Given the description of an element on the screen output the (x, y) to click on. 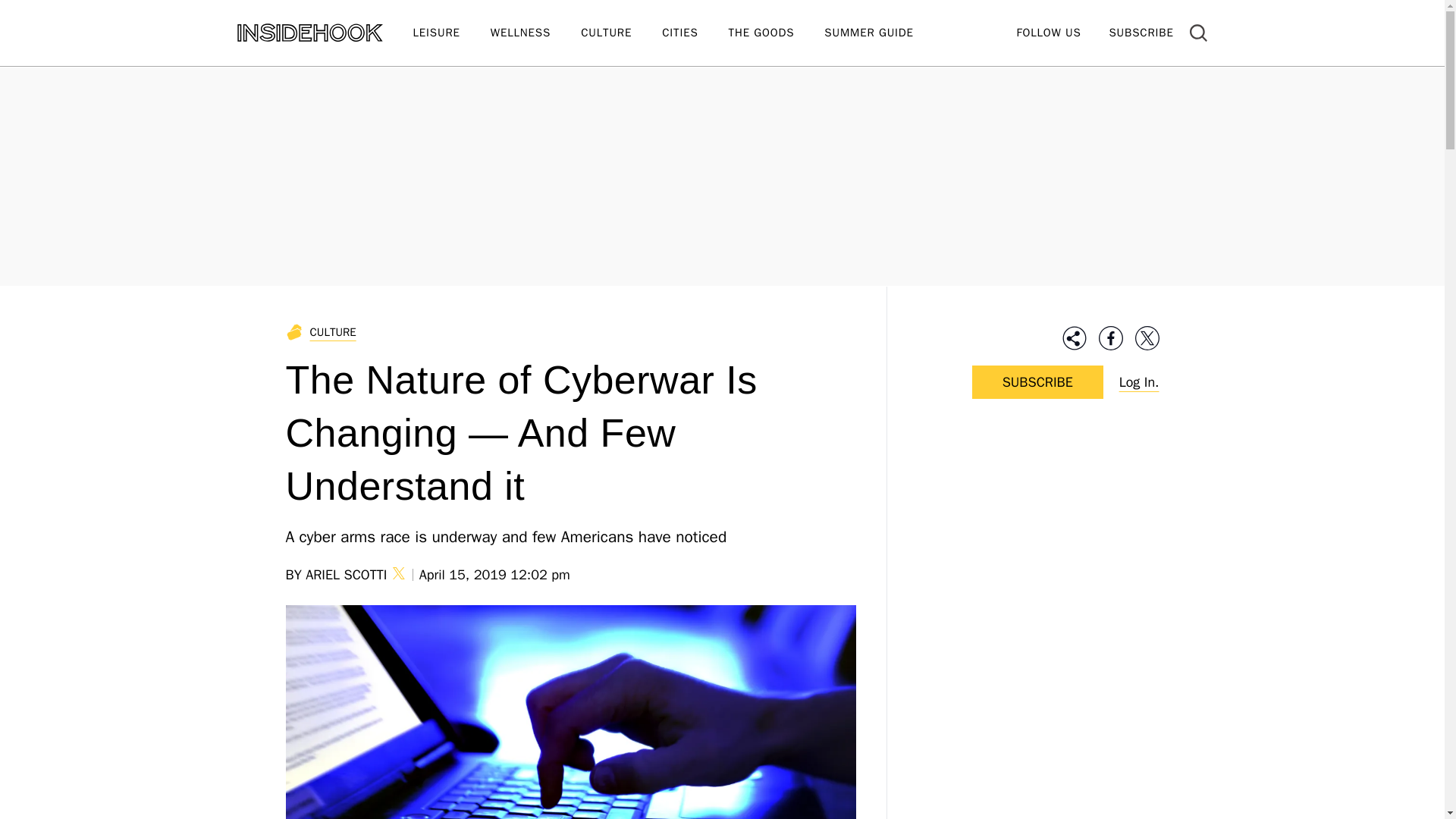
CITIES (695, 32)
FOLLOW US (1048, 32)
WELLNESS (535, 32)
SUBSCRIBE (1140, 32)
LEISURE (450, 32)
THE GOODS (777, 32)
CULTURE (621, 32)
SUMMER GUIDE (883, 32)
